Given the description of an element on the screen output the (x, y) to click on. 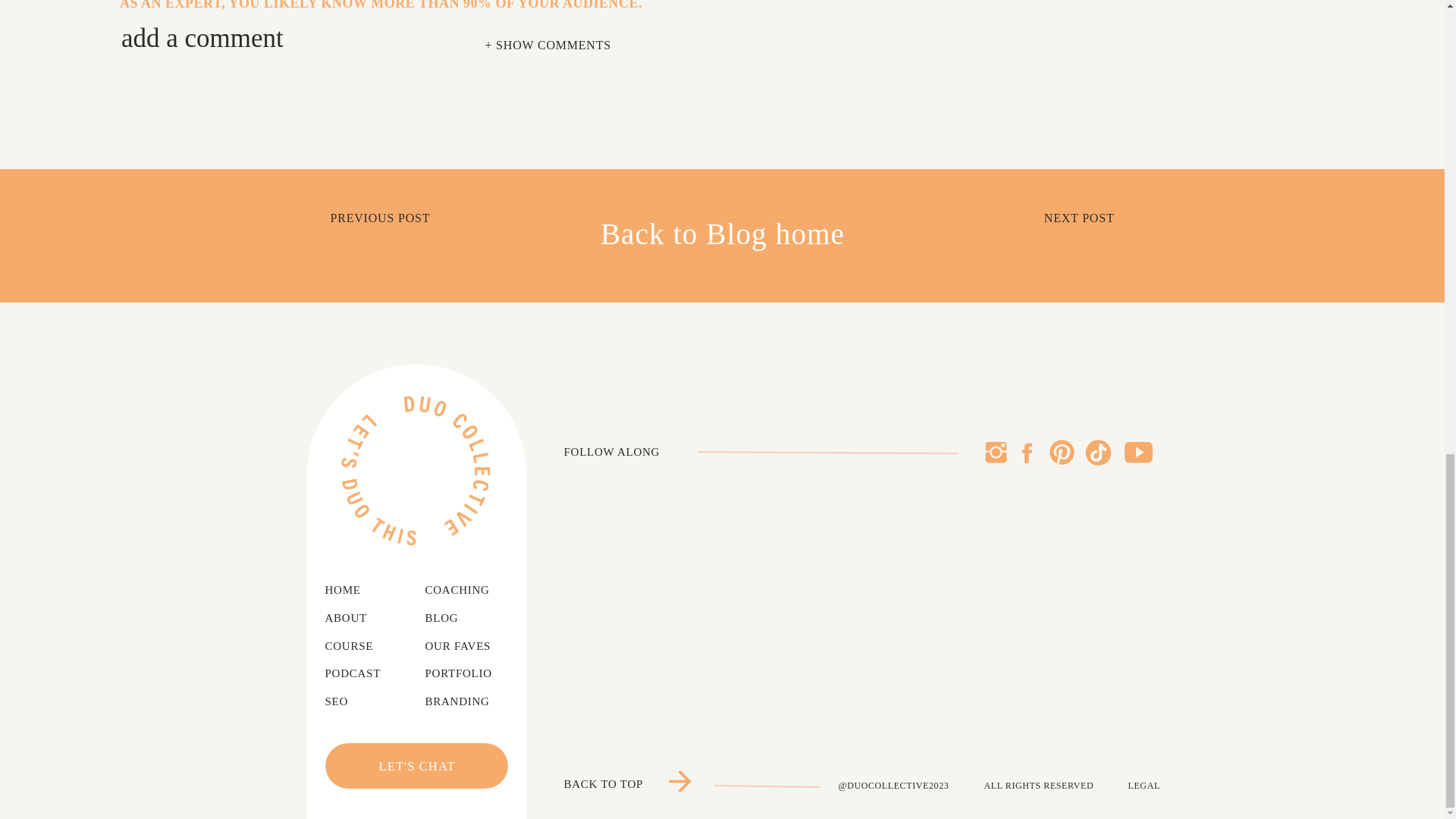
Google Forms (173, 151)
Typeform (161, 249)
HOME (351, 590)
ABOUT (355, 618)
Back to Blog home (722, 235)
article from Hubspot (419, 298)
Survey Monkey (178, 201)
SoGo Survey (171, 225)
